Given the description of an element on the screen output the (x, y) to click on. 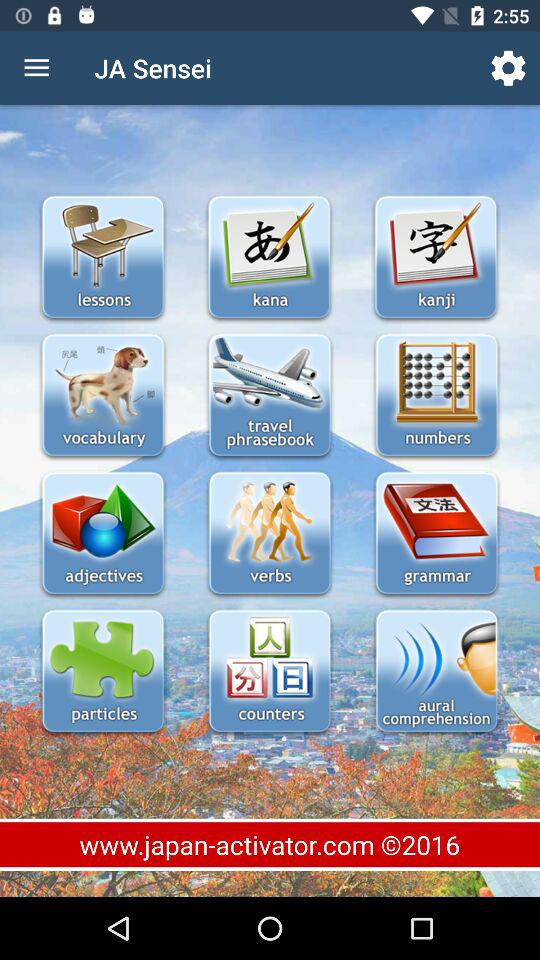
toggle comprehension (436, 672)
